Given the description of an element on the screen output the (x, y) to click on. 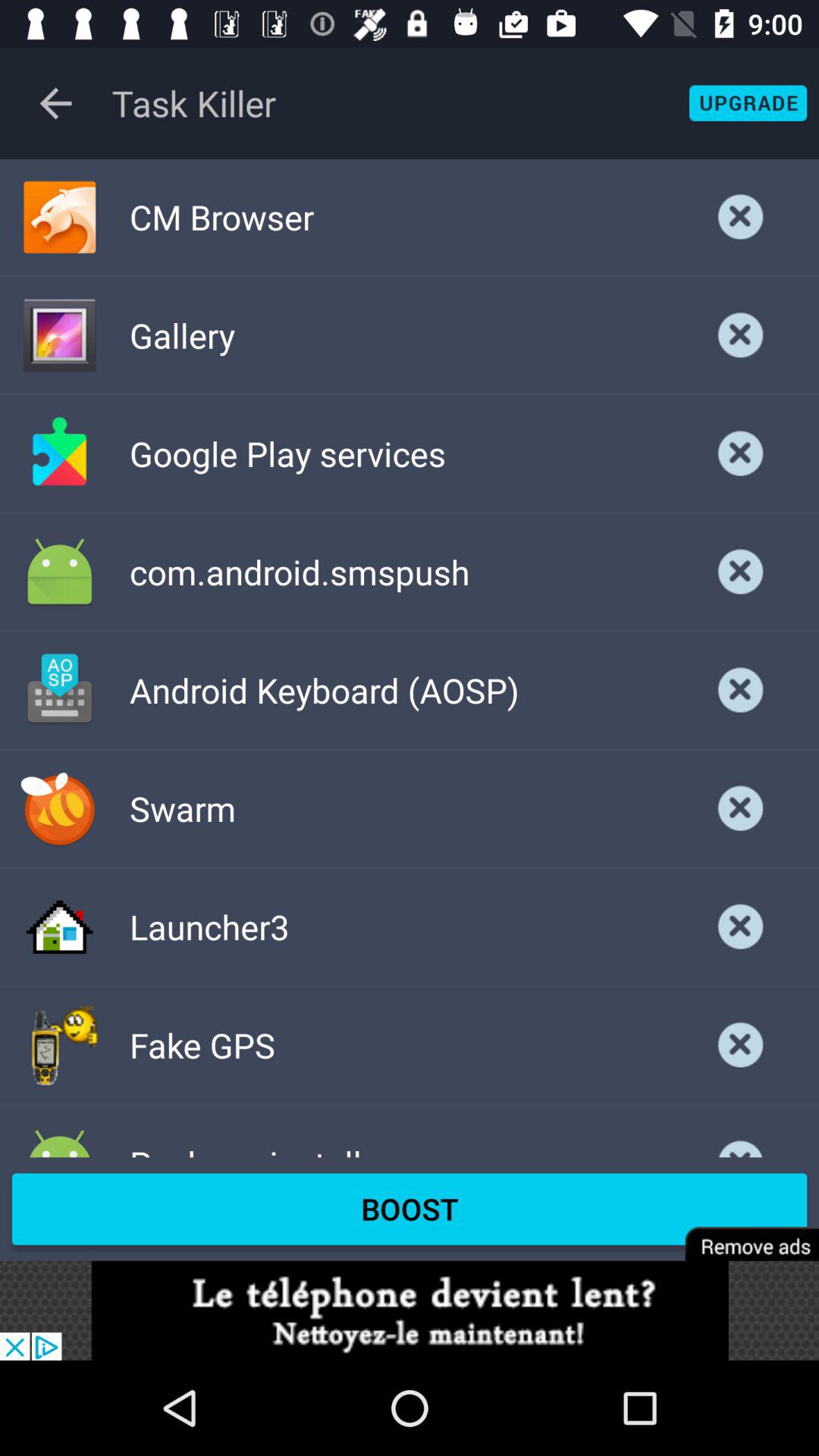
close launcher3 option (740, 926)
